Given the description of an element on the screen output the (x, y) to click on. 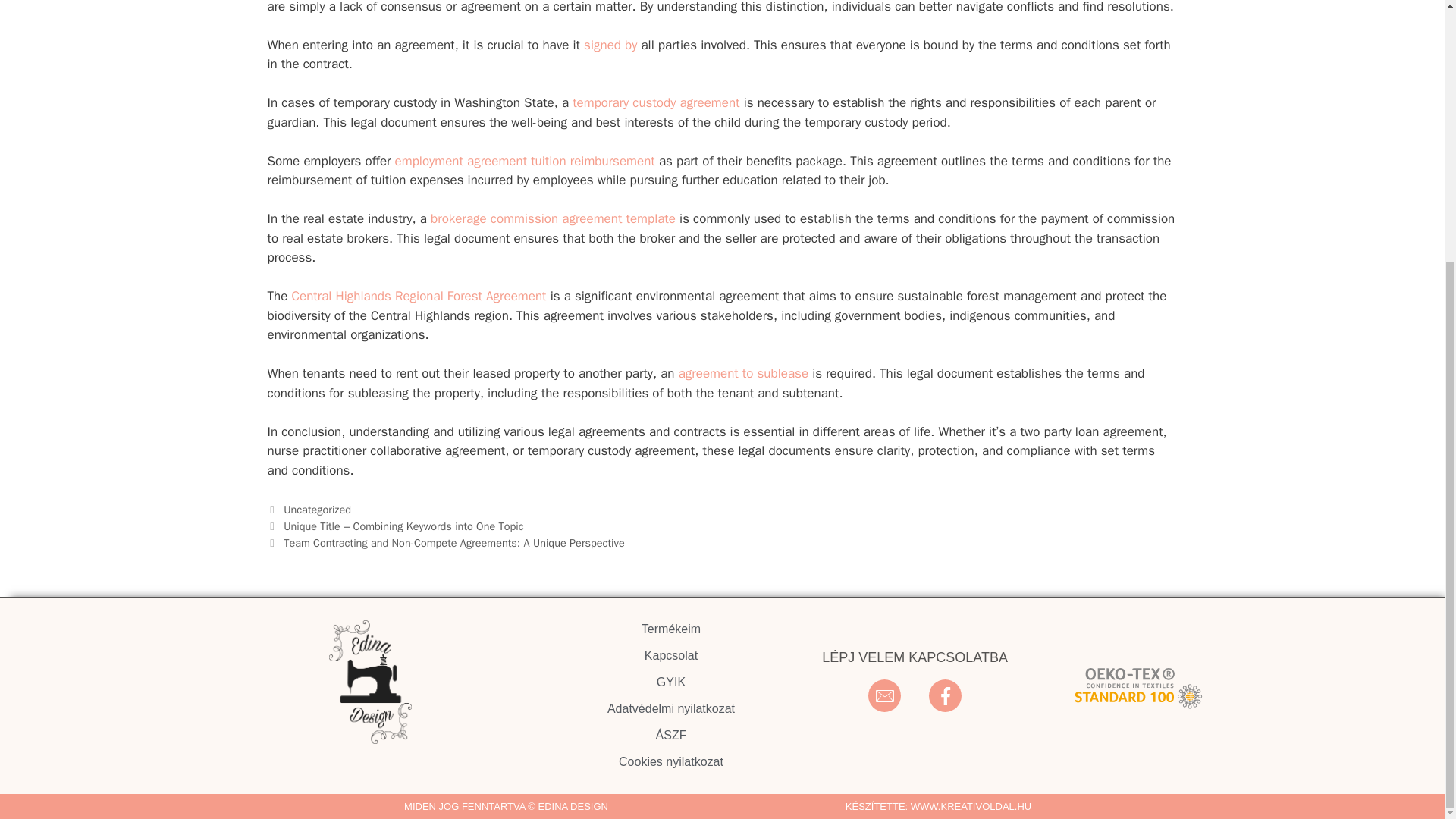
Uncategorized (316, 509)
Central Highlands Regional Forest Agreement (418, 295)
employment agreement tuition reimbursement (524, 160)
Kapcsolat (670, 656)
GYIK (670, 682)
temporary custody agreement (655, 102)
agreement to sublease (743, 373)
brokerage commission agreement template (552, 218)
signed by (610, 44)
